Given the description of an element on the screen output the (x, y) to click on. 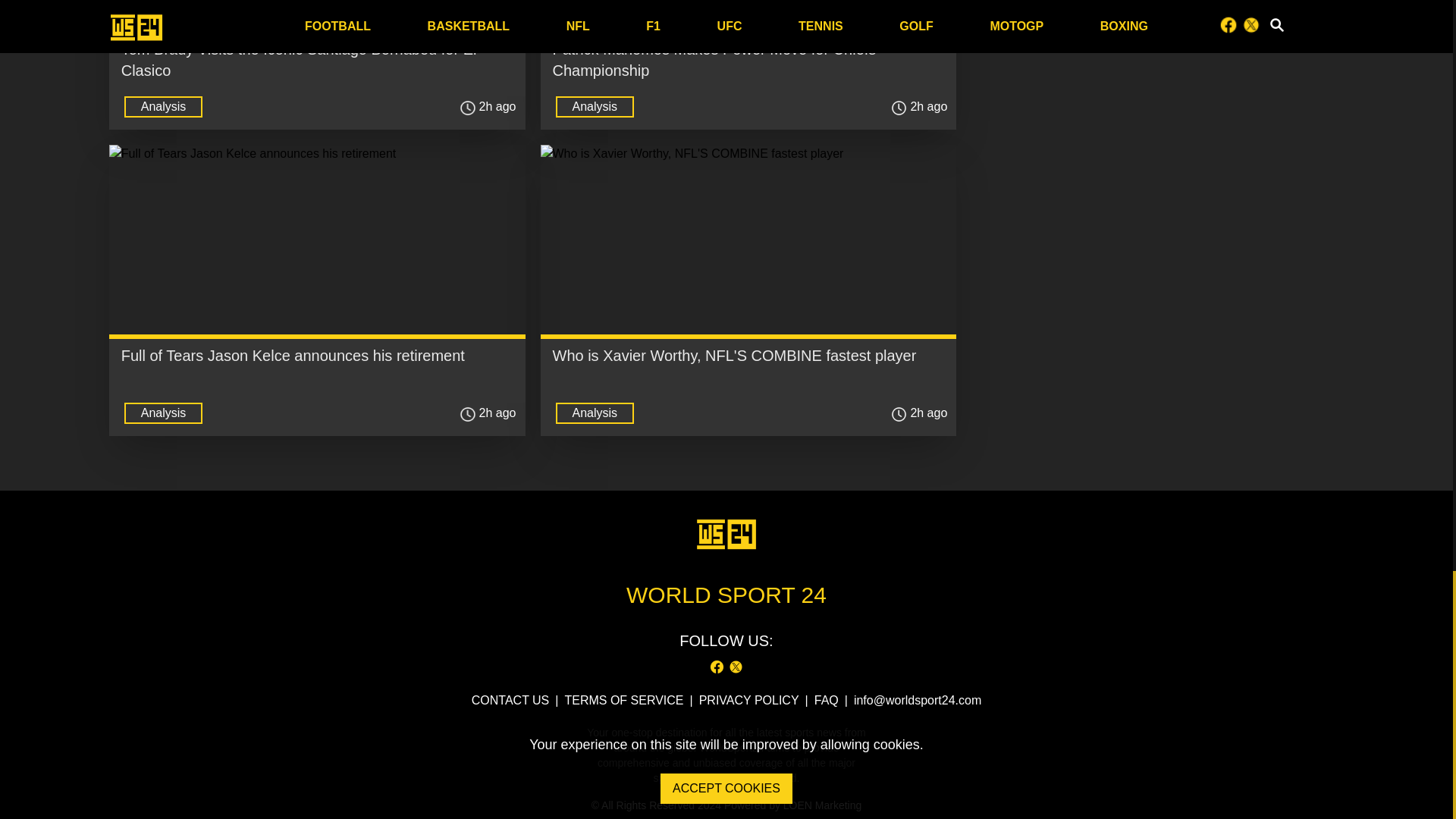
Tom Brady Visits the Iconic Santiago Bernabeu for El Clasico (298, 59)
Analysis (594, 106)
Patrick Mahomes Makes Power Move for Chiefs' Championship (715, 59)
Analysis (163, 106)
